Given the description of an element on the screen output the (x, y) to click on. 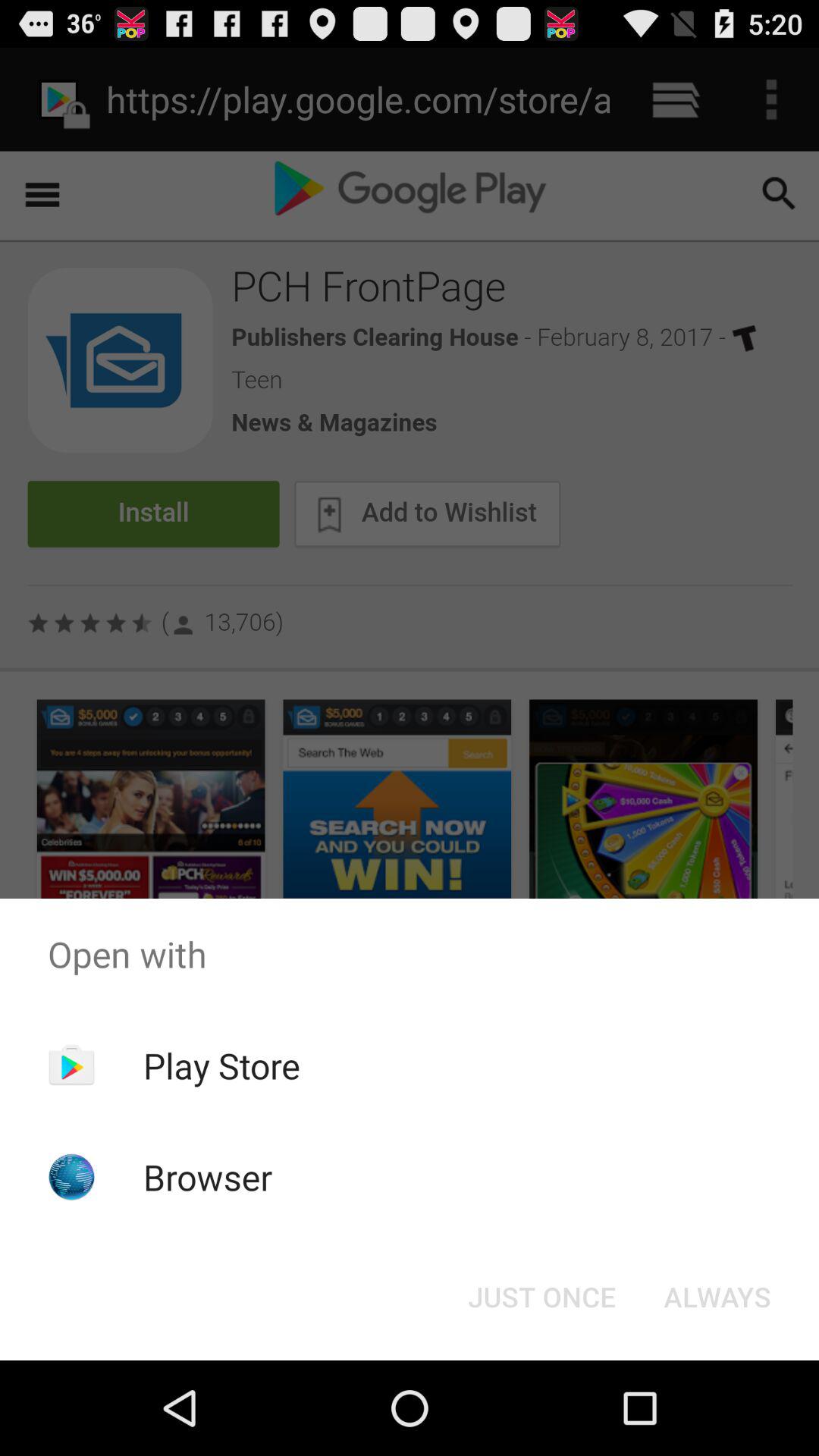
choose item below the open with app (221, 1065)
